Given the description of an element on the screen output the (x, y) to click on. 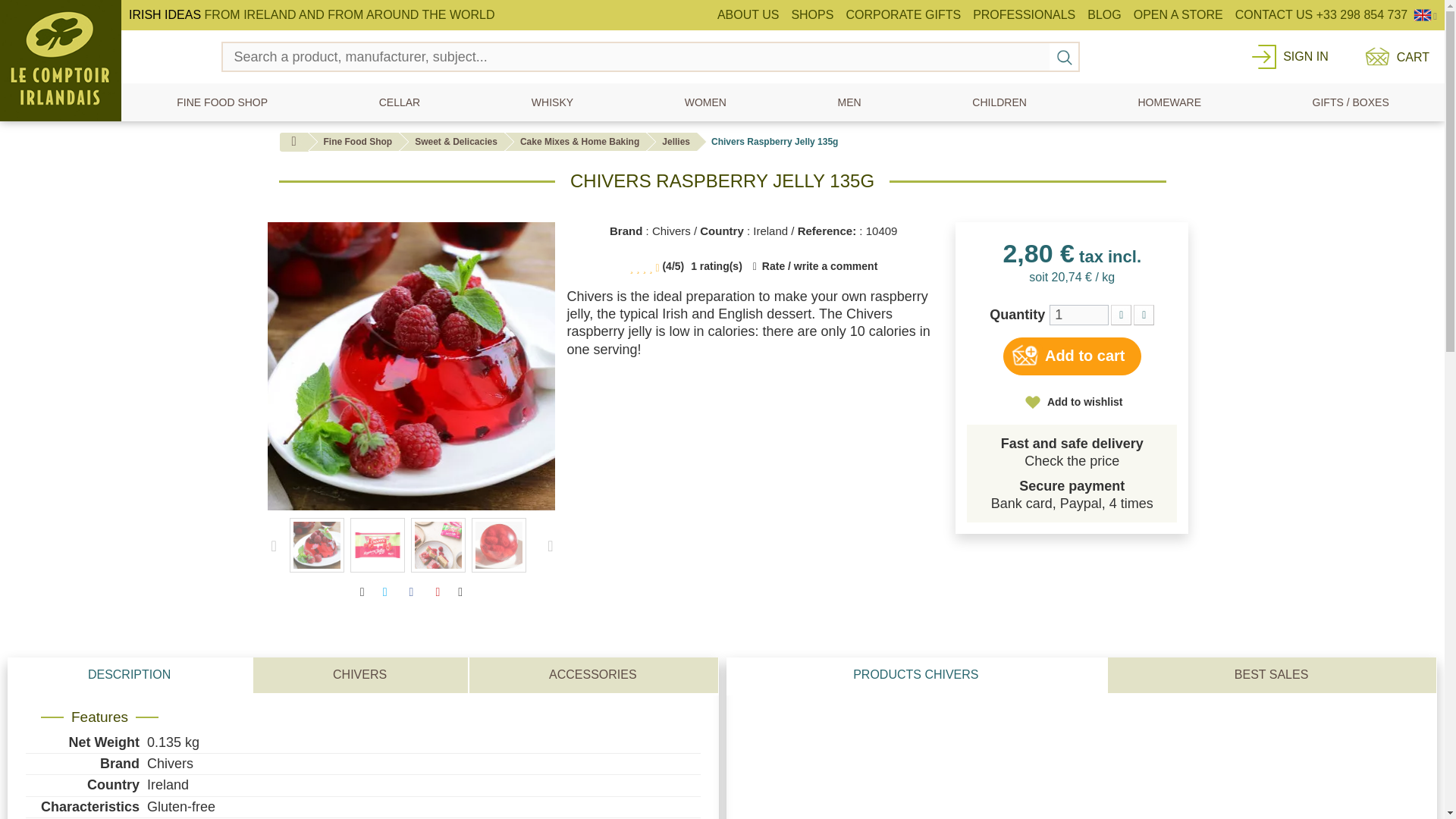
SHOPS (812, 15)
OPEN A STORE (1177, 15)
CORPORATE GIFTS (903, 15)
Log in to your customer account (1304, 56)
PROFESSIONALS (1023, 15)
BLOG (1103, 15)
CART (1393, 56)
View my shopping cart (1393, 56)
FINE FOOD SHOP (221, 102)
1 (1078, 314)
SIGN IN (1304, 56)
ABOUT US (748, 15)
Fine food shop (221, 102)
